Given the description of an element on the screen output the (x, y) to click on. 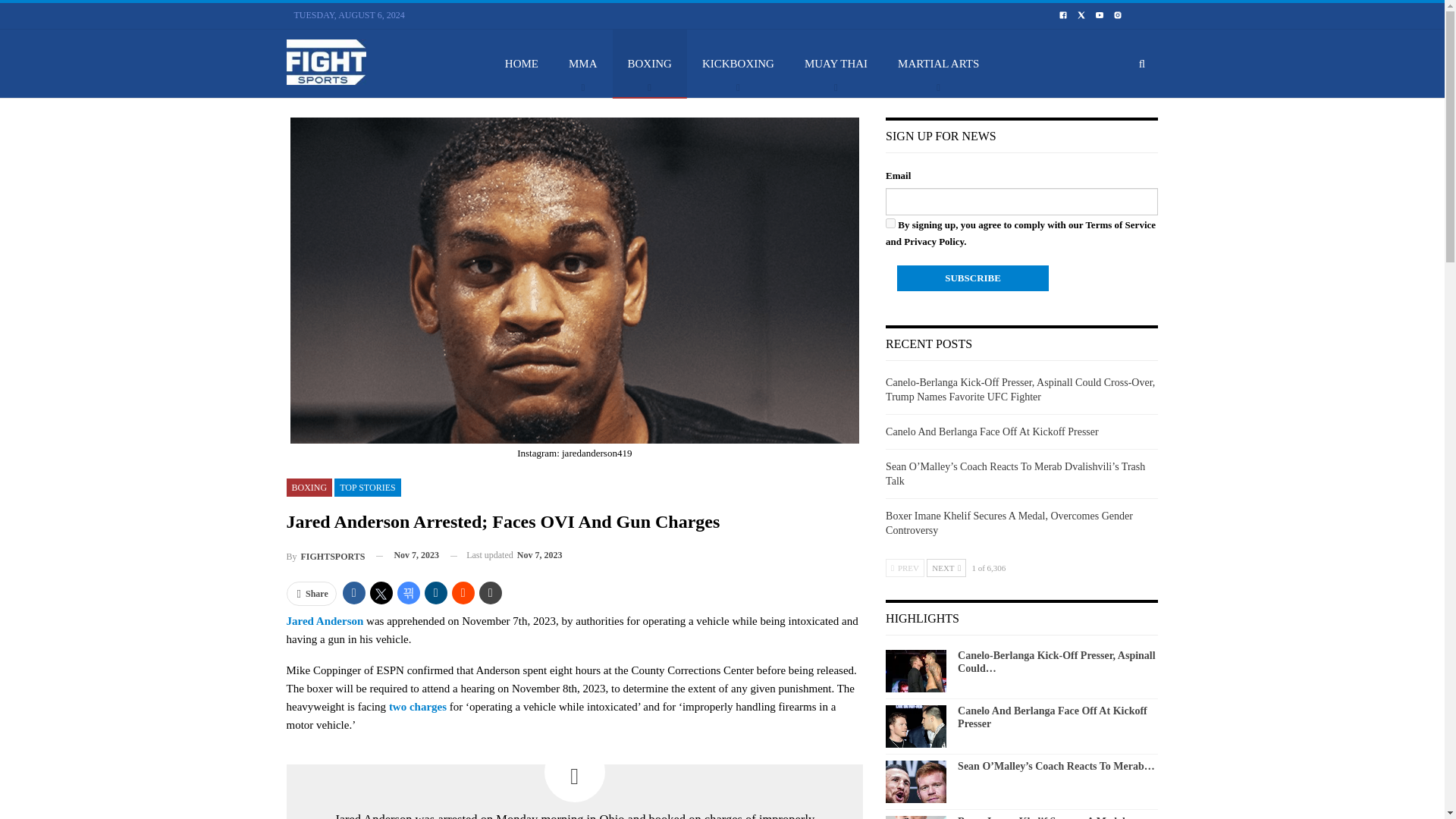
BOXING (649, 63)
facebook (1062, 14)
KICKBOXING (738, 63)
twitter (1081, 14)
instagram (1117, 14)
twitter (1080, 13)
youtube (1099, 13)
instagram (1117, 13)
youtube (1098, 14)
Subscribe (972, 278)
on (890, 223)
HOME (521, 63)
facebook (1062, 13)
